Given the description of an element on the screen output the (x, y) to click on. 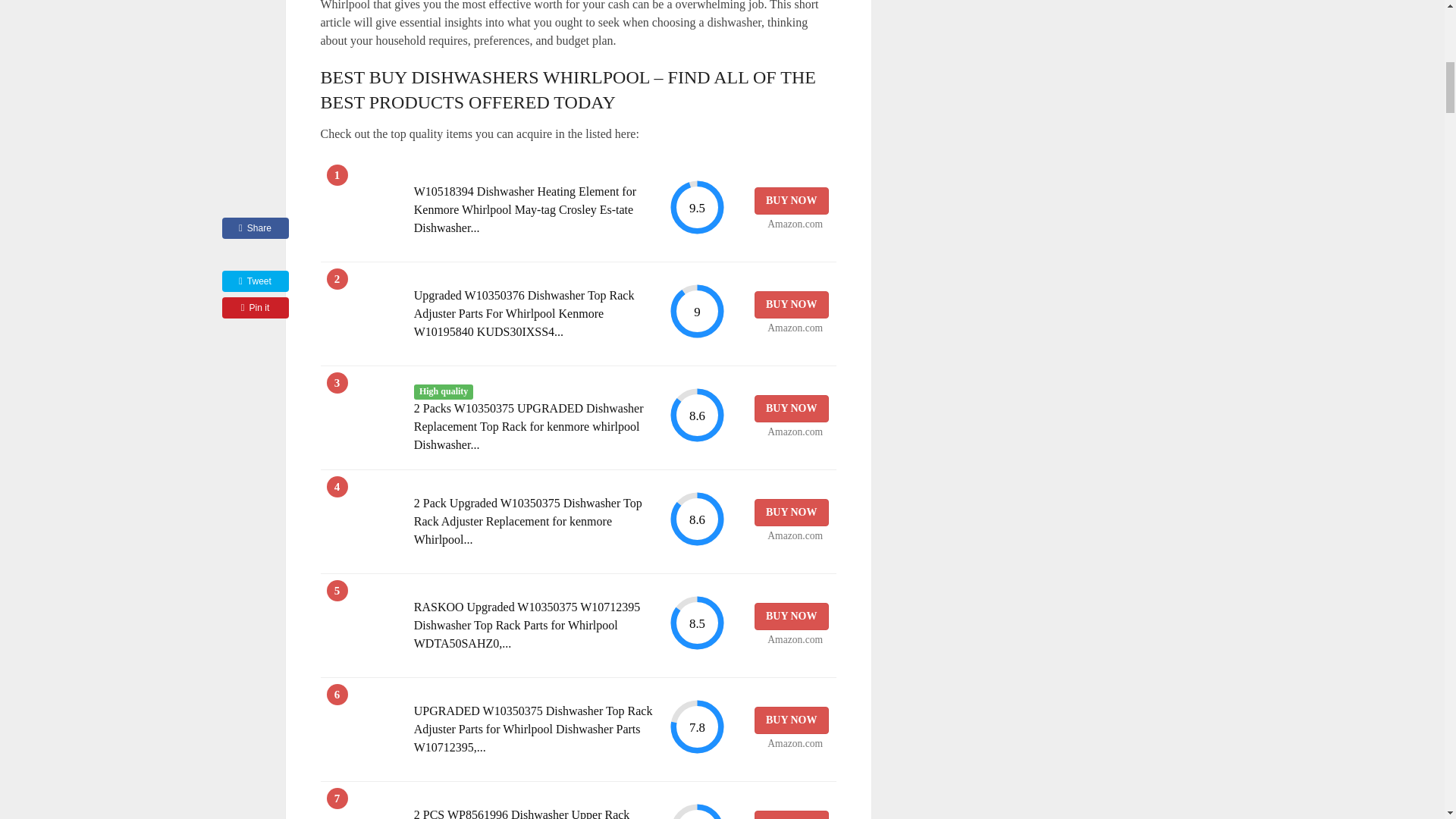
8.5 (696, 622)
9 (696, 310)
8.6 (696, 518)
8.6 (696, 414)
7.6 (696, 810)
7.8 (696, 726)
9.5 (696, 207)
